Given the description of an element on the screen output the (x, y) to click on. 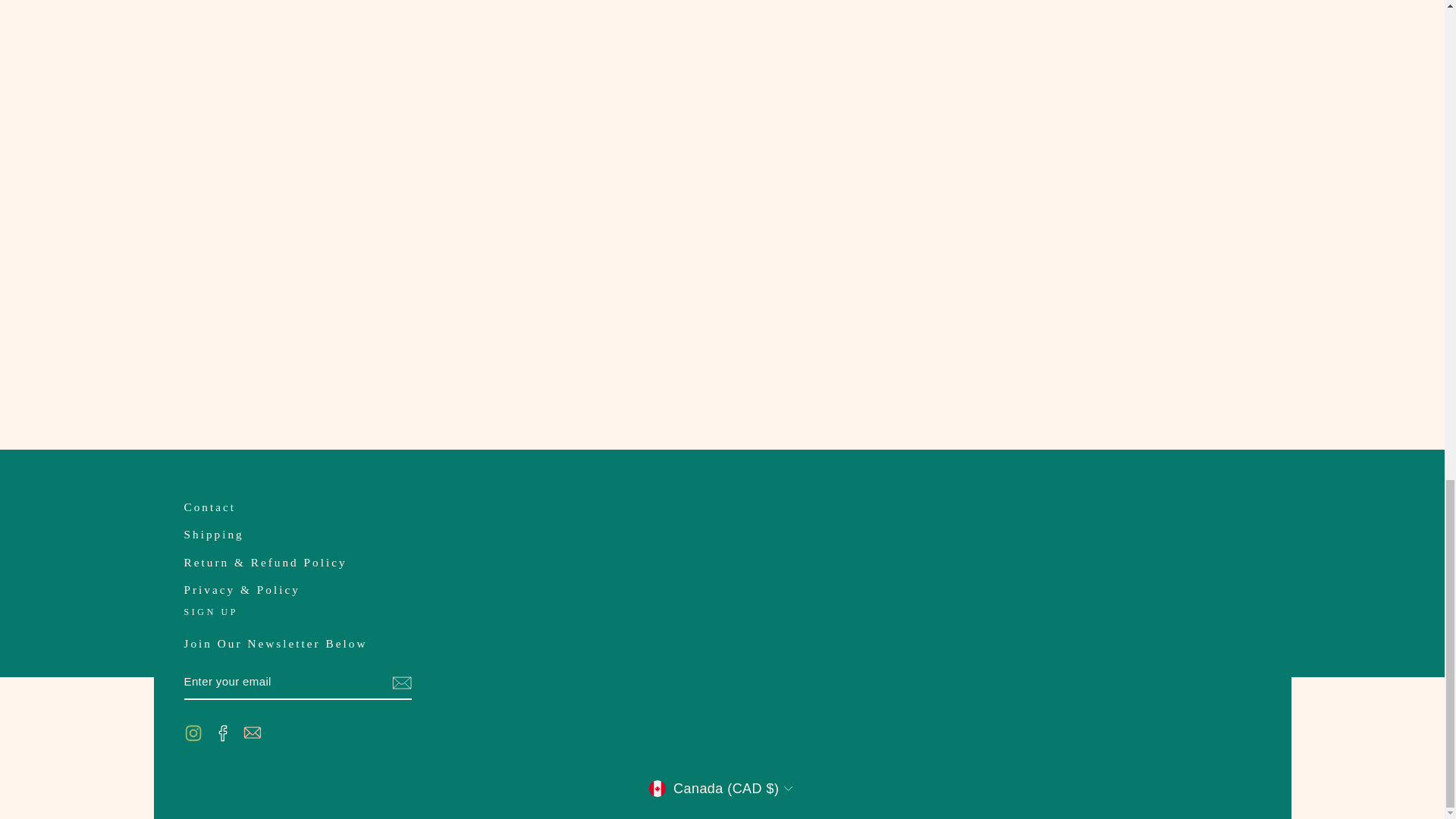
Slowly Slowly  on Facebook (222, 732)
Slowly Slowly  on Pinterest (251, 732)
Slowly Slowly  on Instagram (192, 732)
